Given the description of an element on the screen output the (x, y) to click on. 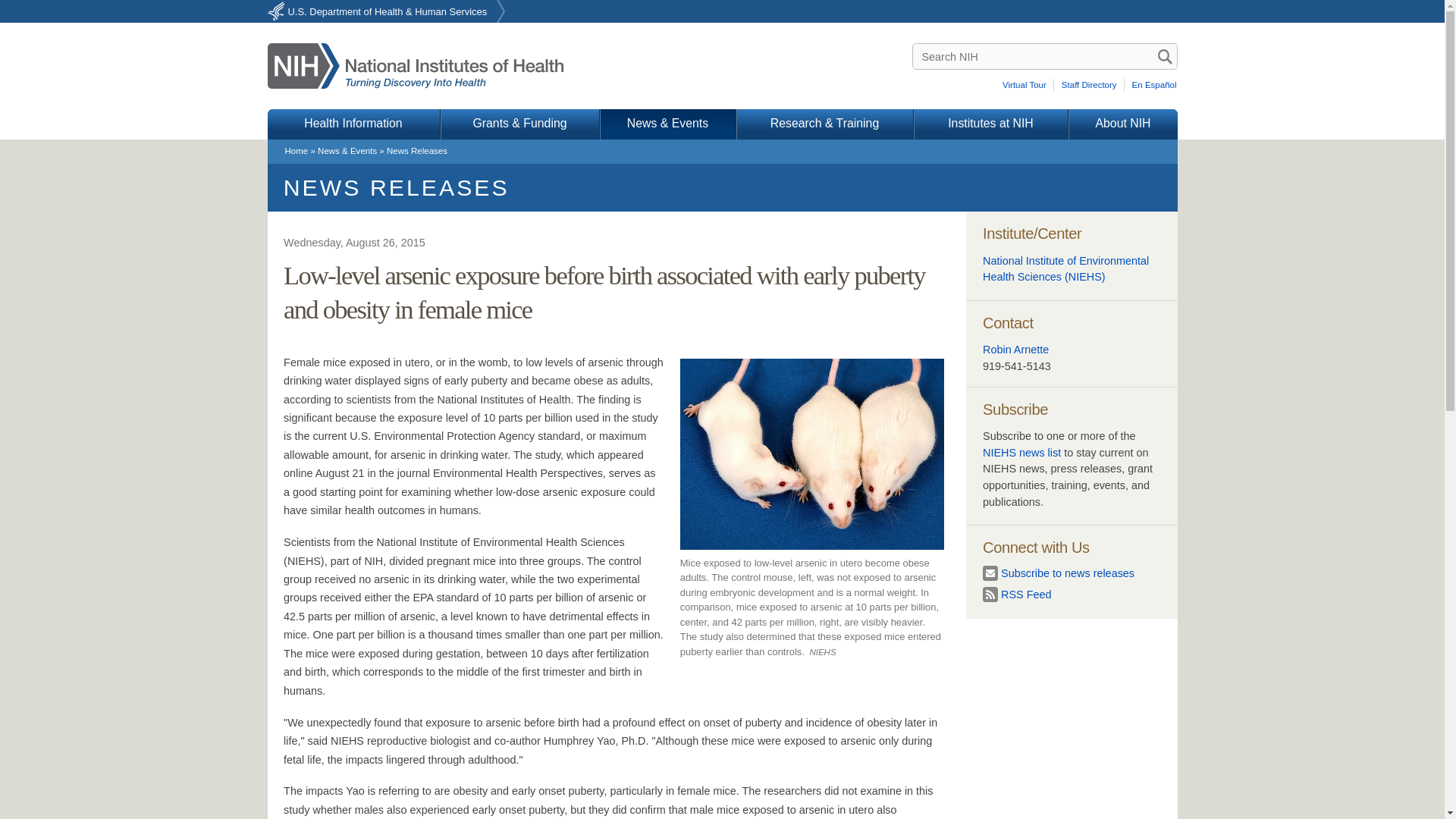
Search (1164, 56)
Search (1164, 56)
Health Information (352, 123)
Search (1164, 56)
Virtual Tour (1026, 84)
Staff Directory (1091, 84)
